Given the description of an element on the screen output the (x, y) to click on. 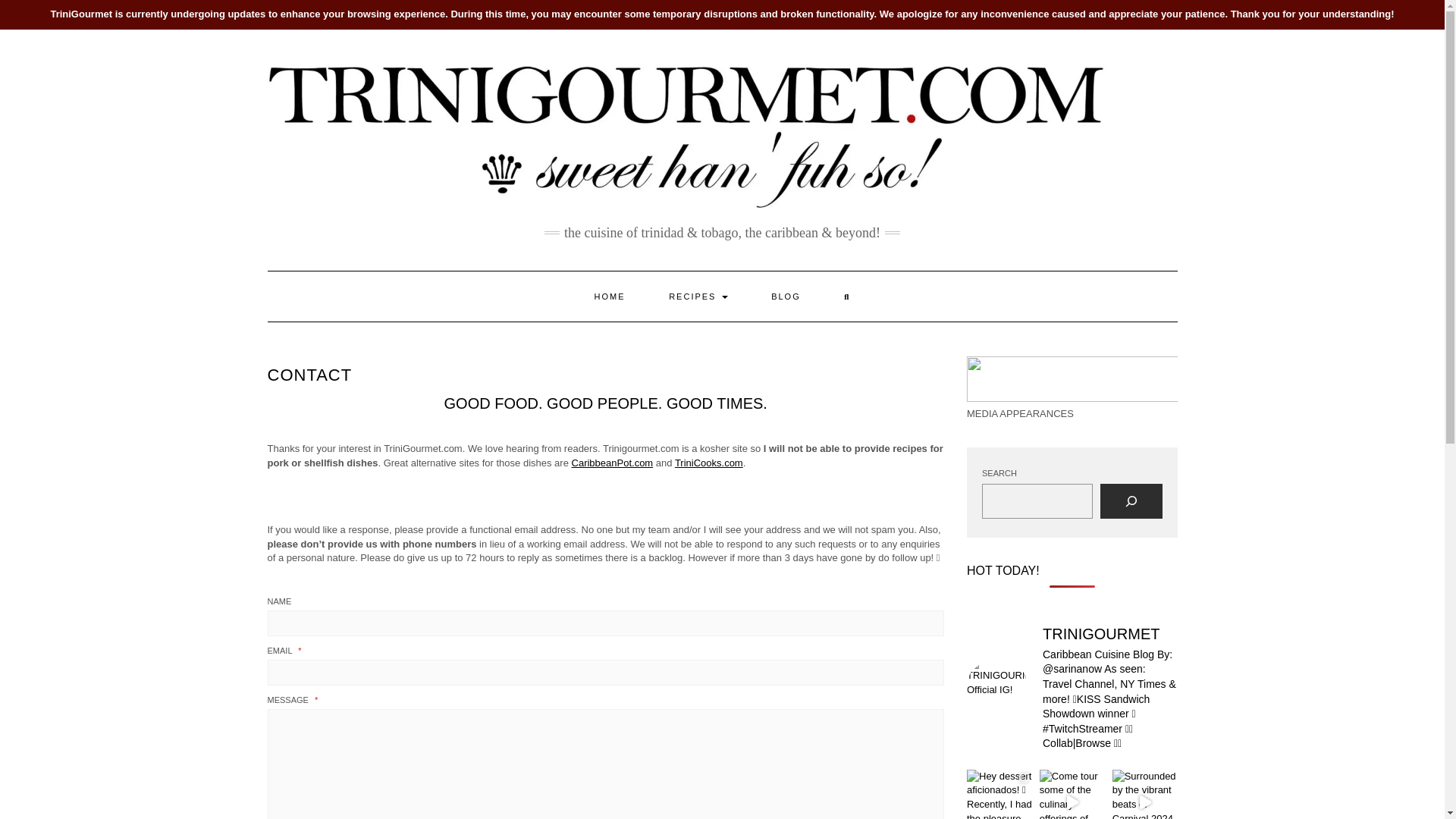
HOME (609, 296)
BLOG (786, 296)
RECIPES (697, 296)
CaribbeanPot.com (612, 462)
TriniCooks.com (708, 462)
